Given the description of an element on the screen output the (x, y) to click on. 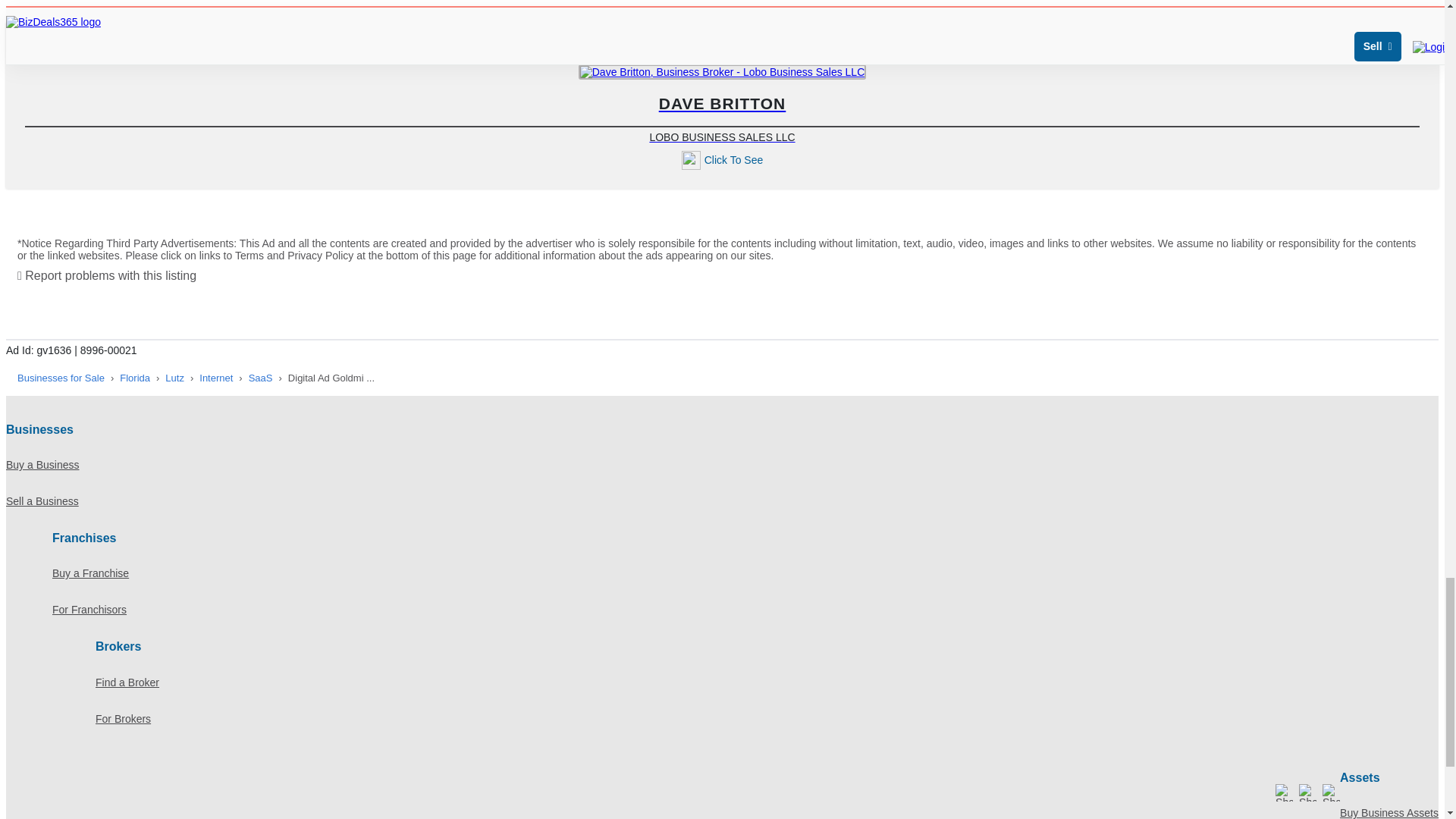
Internet (215, 378)
Lutz (174, 378)
For Franchisors (745, 609)
Lutz, FL SaaS For Sale (260, 378)
SaaS (260, 378)
Lutz, FL Online, Internet Businesses For Sale (215, 378)
Buy Business Assets (1388, 806)
Florida Businesses For Sale (134, 378)
Businesses for Sale (721, 104)
Buy a Business (60, 378)
Sell a Business (721, 464)
Businesses For Sale In USA and Canada (721, 501)
Buy a Franchise (60, 378)
